Given the description of an element on the screen output the (x, y) to click on. 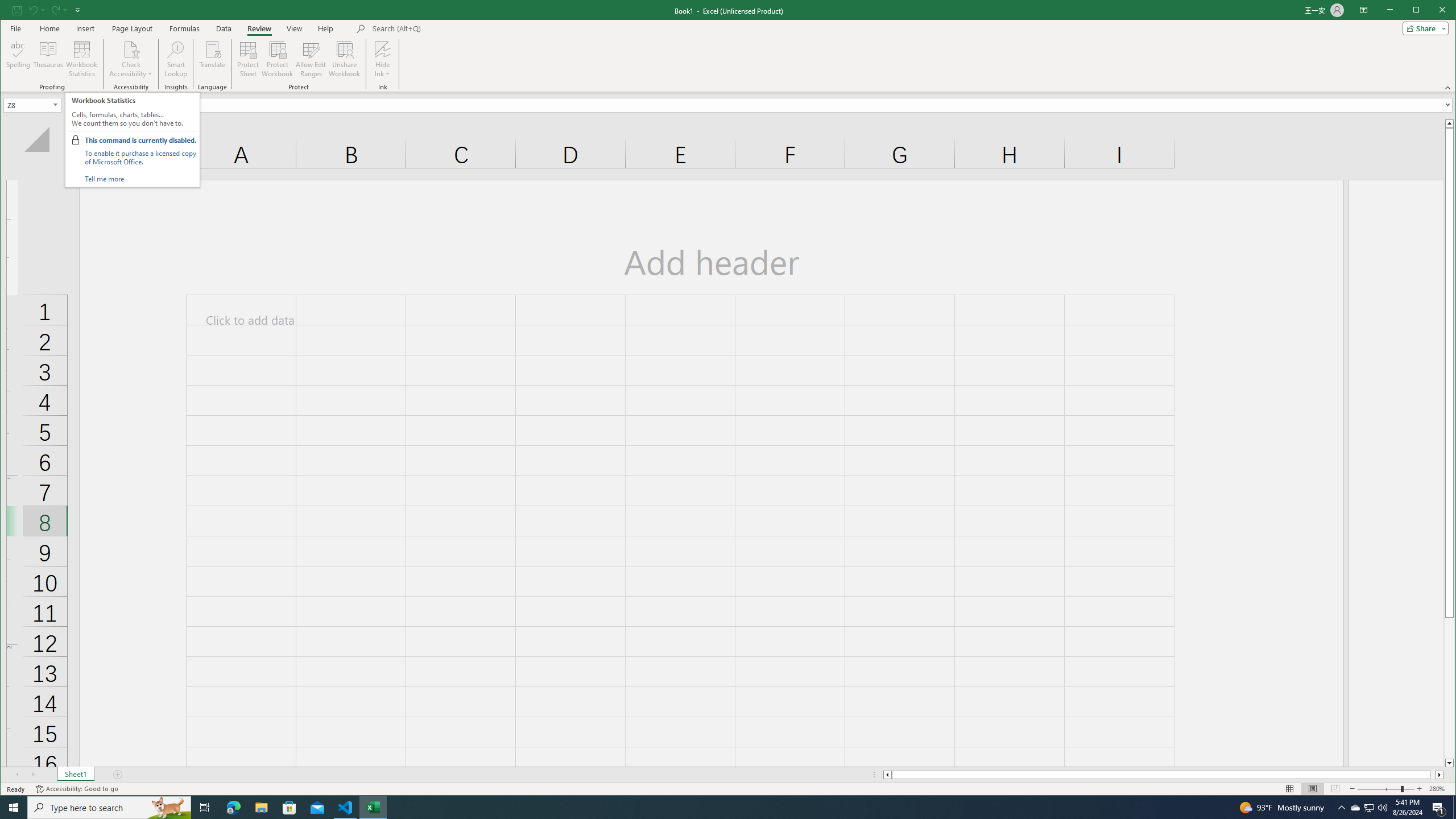
Q2790: 100% (1382, 807)
Workbook Statistics (82, 59)
Smart Lookup (176, 59)
View (294, 28)
Scroll Right (34, 774)
Share (1422, 27)
Maximize (1432, 11)
Show desktop (1454, 807)
Action Center, 1 new notification (1439, 807)
Unshare Workbook (344, 59)
Formula Bar (799, 104)
Page Break Preview (1334, 788)
Zoom Out (1378, 788)
